Given the description of an element on the screen output the (x, y) to click on. 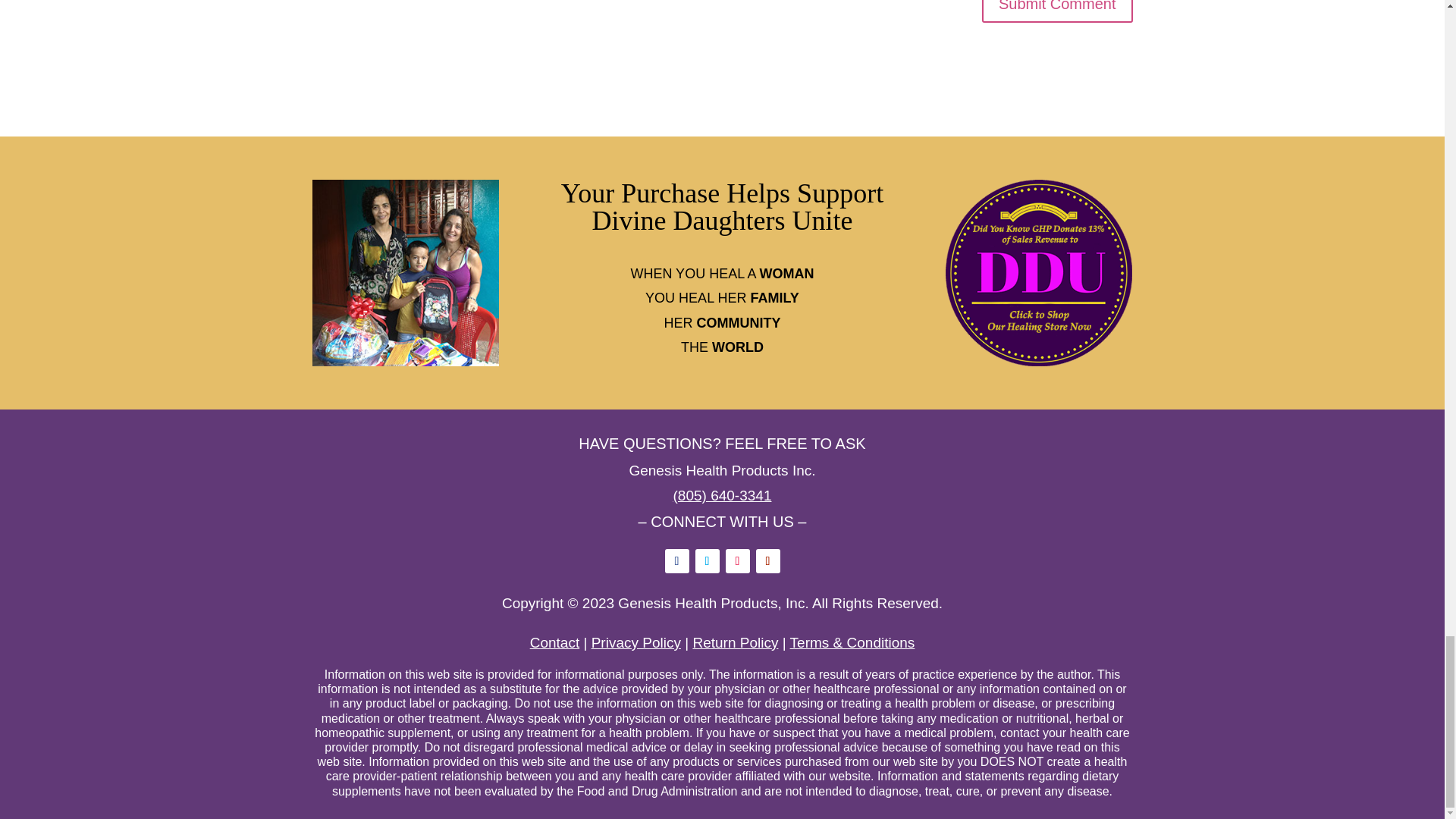
Follow on Facebook (675, 560)
Follow on X (706, 560)
Follow on Instagram (737, 560)
Follow on Youtube (766, 560)
divine-daughters-unite-charity-support-seal (1038, 272)
